Given the description of an element on the screen output the (x, y) to click on. 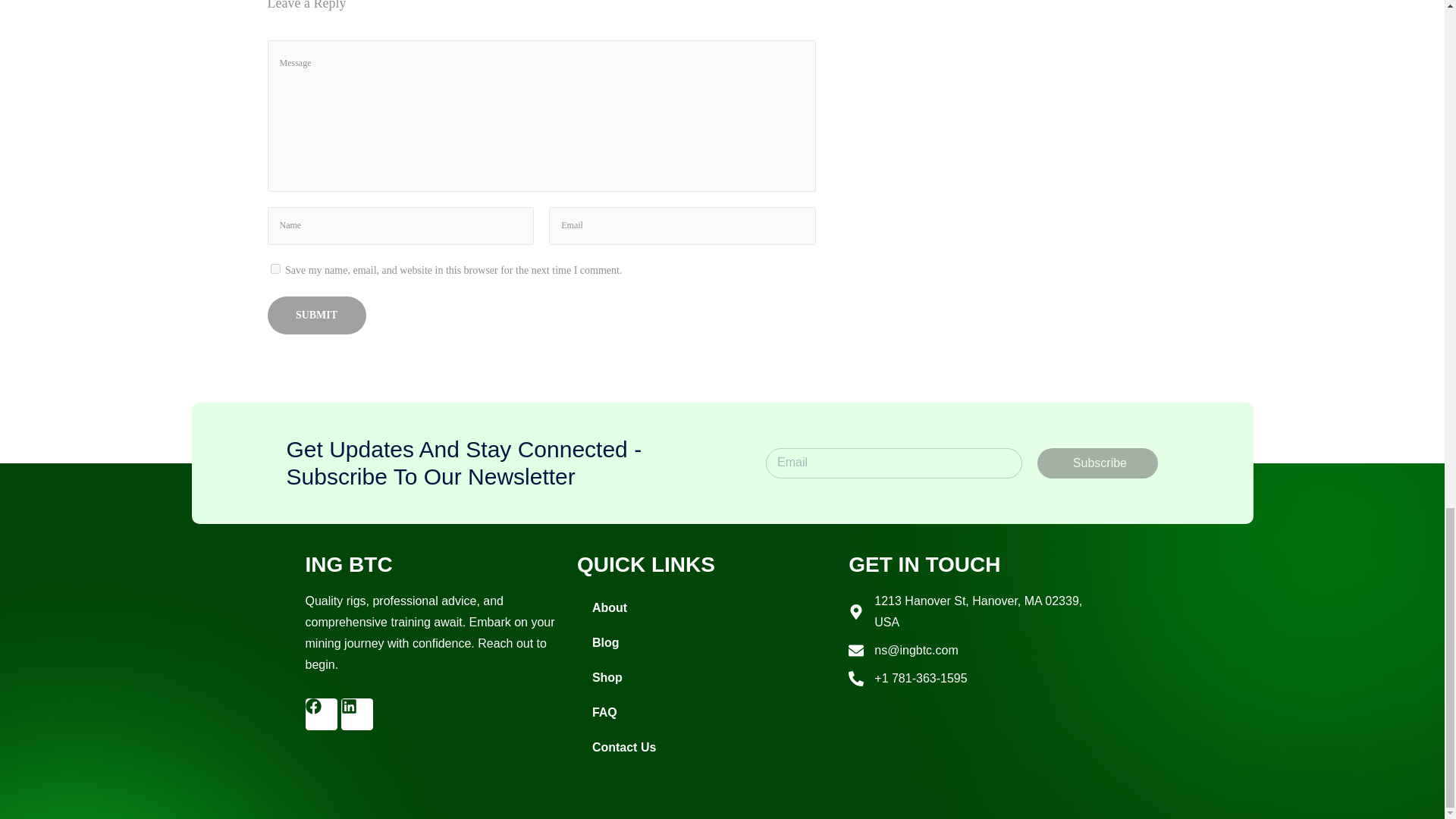
Submit (315, 315)
yes (274, 268)
About (704, 607)
Subscribe (1096, 462)
Submit (315, 315)
ING BTC (347, 564)
Blog (704, 642)
